Given the description of an element on the screen output the (x, y) to click on. 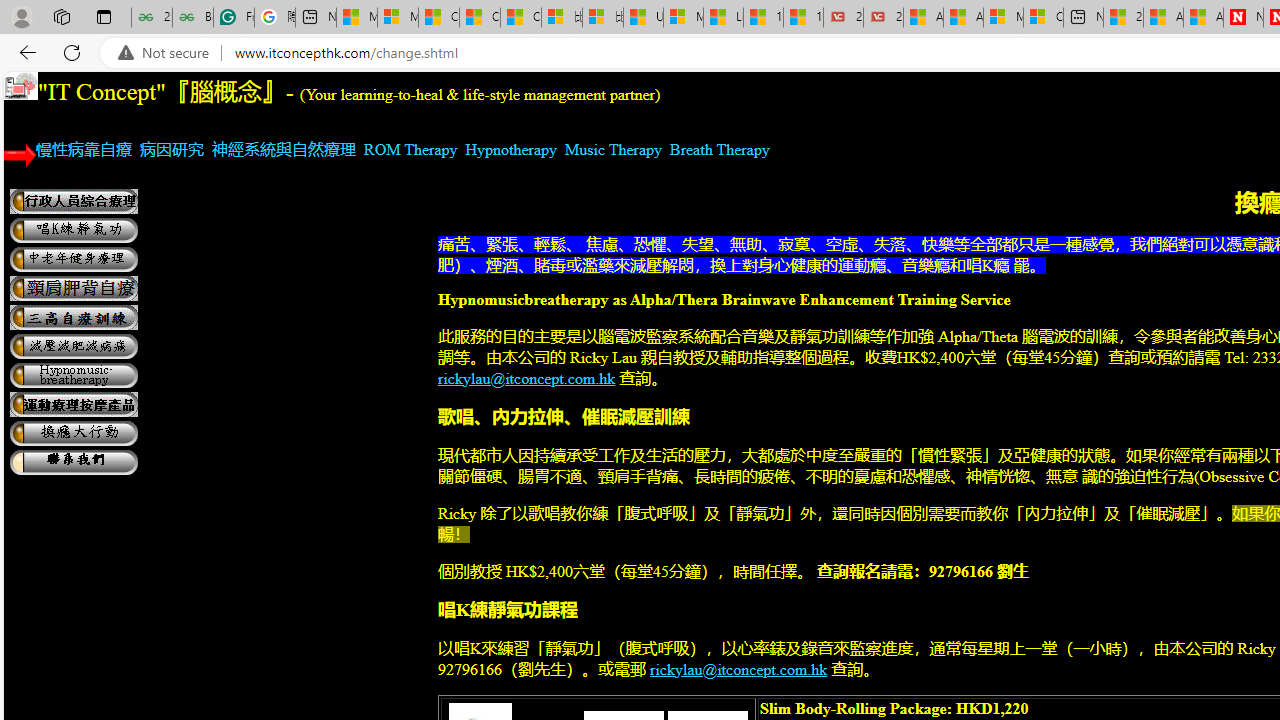
Free AI Writing Assistance for Students | Grammarly (233, 17)
rickylau@itconcept.com.hk (739, 669)
Back (24, 52)
20 Ways to Boost Your Protein Intake at Every Meal (1123, 17)
Breath Therapy (719, 149)
